Given the description of an element on the screen output the (x, y) to click on. 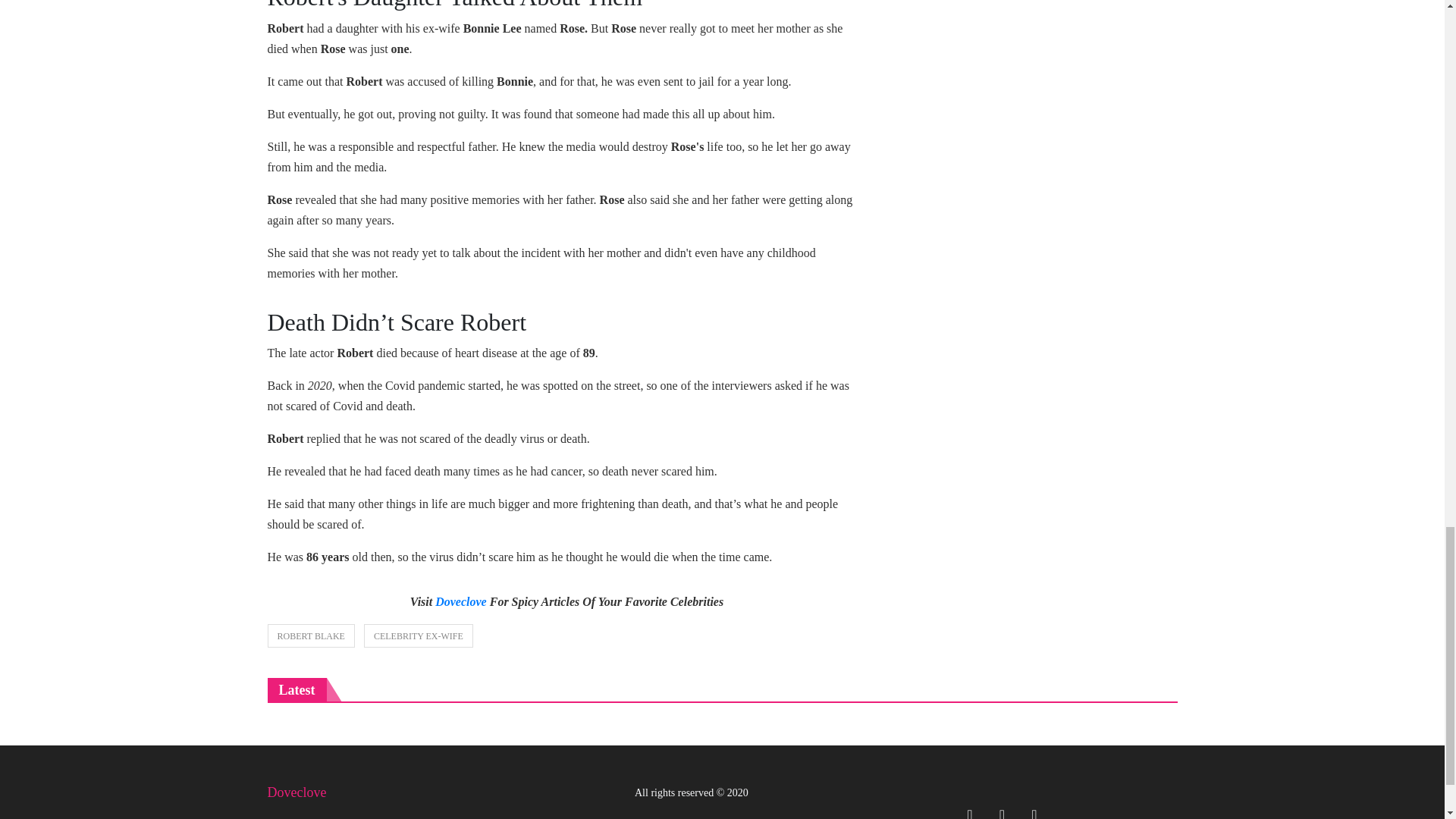
Advertise (386, 818)
CELEBRITY EX-WIFE (418, 635)
ROBERT BLAKE (309, 635)
Home (283, 818)
About (331, 818)
Doveclove (460, 601)
Contact (448, 818)
Privacy (503, 818)
